Given the description of an element on the screen output the (x, y) to click on. 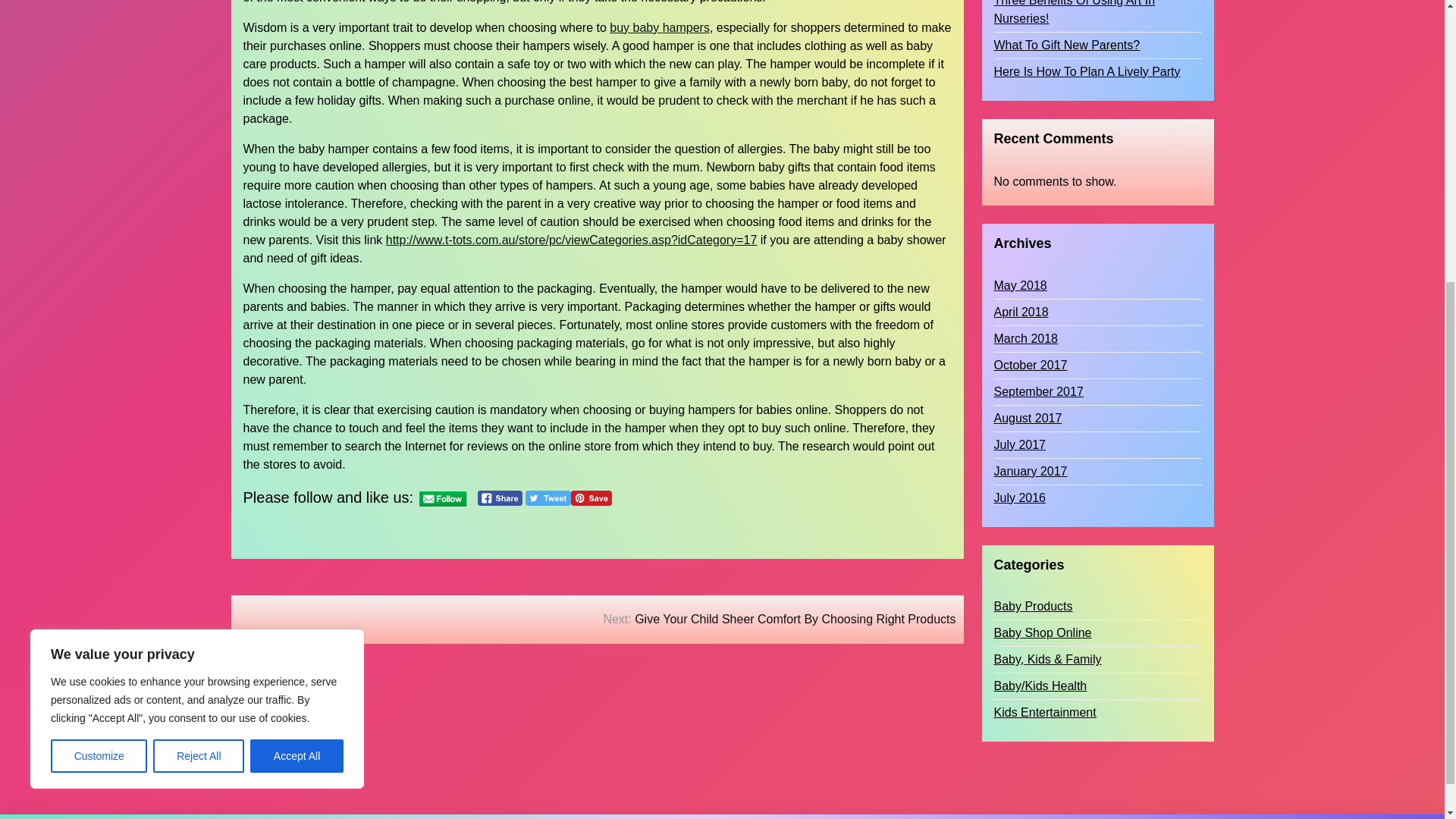
What To Gift New Parents? (1066, 27)
Three Benefits Of Using Art In Nurseries! (1096, 4)
Customize (98, 313)
Pin Share (590, 498)
Reject All (198, 313)
Facebook Share (499, 498)
Tweet (547, 498)
Accept All (296, 313)
Here Is How To Plan A Lively Party (1085, 54)
buy baby hampers (660, 27)
